Given the description of an element on the screen output the (x, y) to click on. 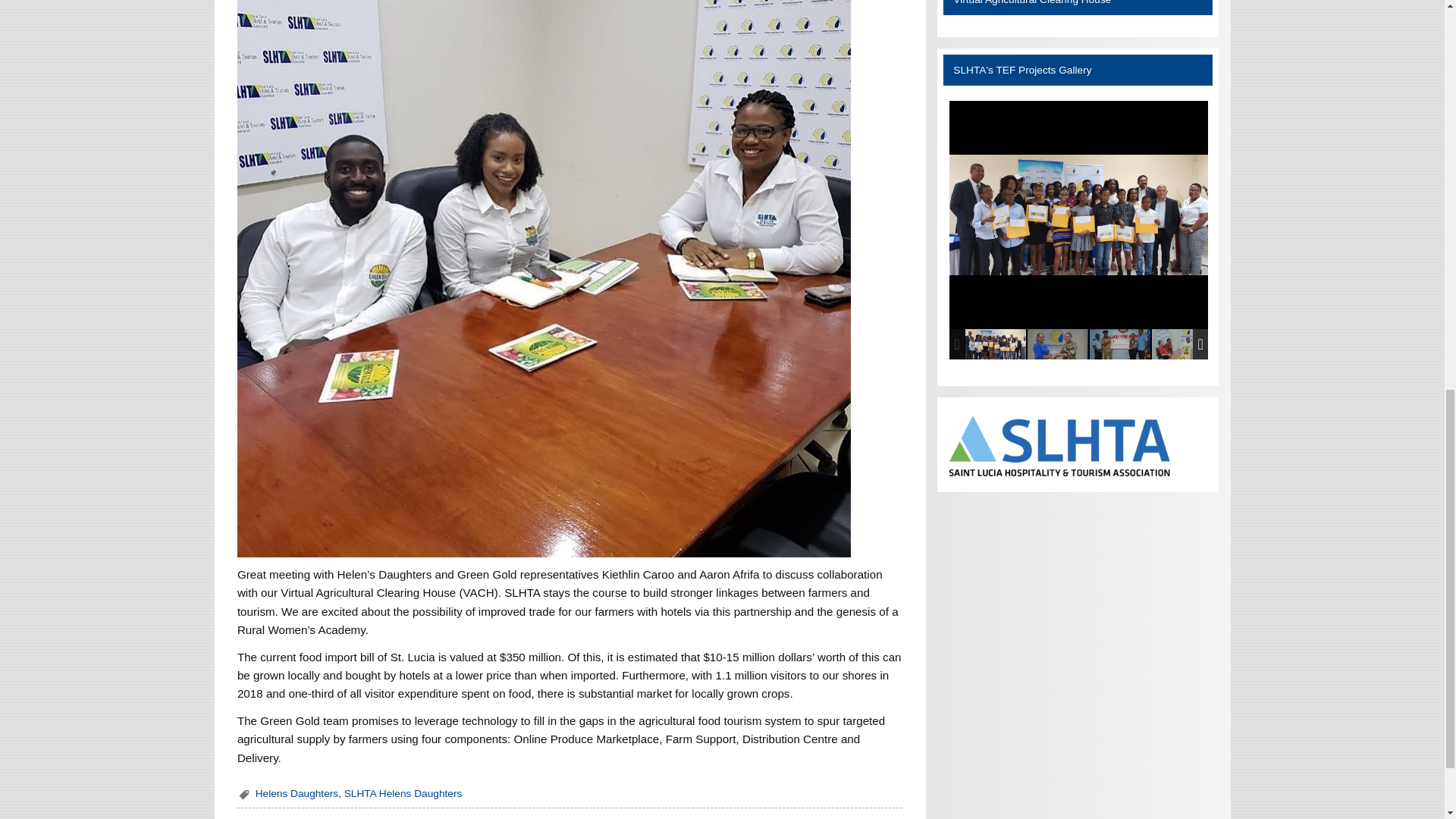
IMG-20230821-WA0023 (994, 344)
DSC08219 (1119, 344)
IMG-20230726-WA0019 (1057, 344)
Helens Daughters (296, 793)
IMG-20230727-WA0028 (1182, 344)
SLHTA Helens Daughters (403, 793)
